Given the description of an element on the screen output the (x, y) to click on. 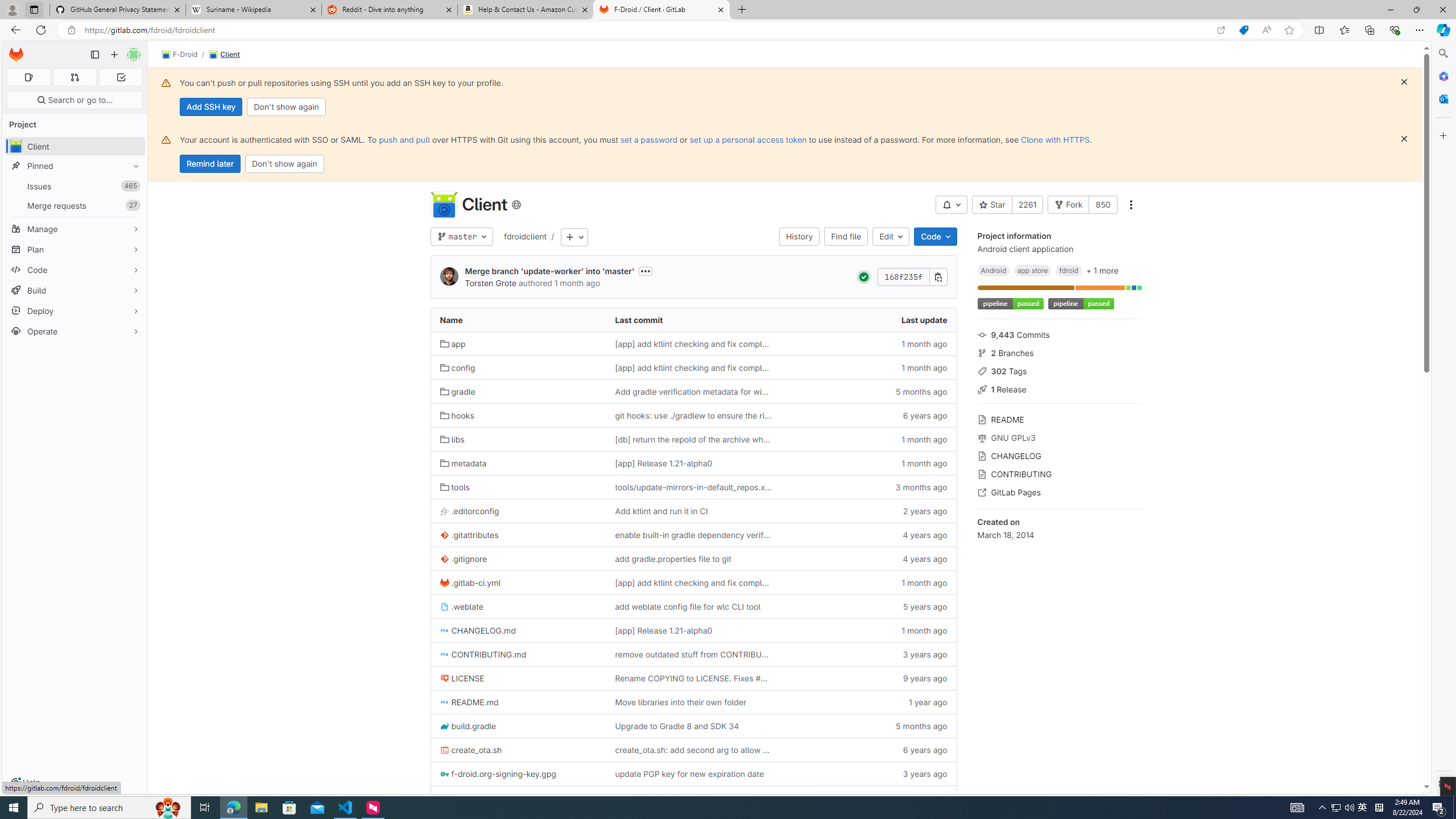
CONTRIBUTING.md (483, 654)
Rename COPYING to LICENSE. Fixes #384 (693, 677)
CONTRIBUTING (1058, 473)
build.gradle (467, 725)
remove outdated stuff from CONTRIBUTING.md (693, 654)
Deploy (74, 310)
fdroidclient (525, 235)
add weblate config file for wlc CLI tool (687, 606)
Fork (1068, 204)
9 years ago (868, 677)
.gitattributes (469, 535)
Toggle commit description (645, 271)
